Given the description of an element on the screen output the (x, y) to click on. 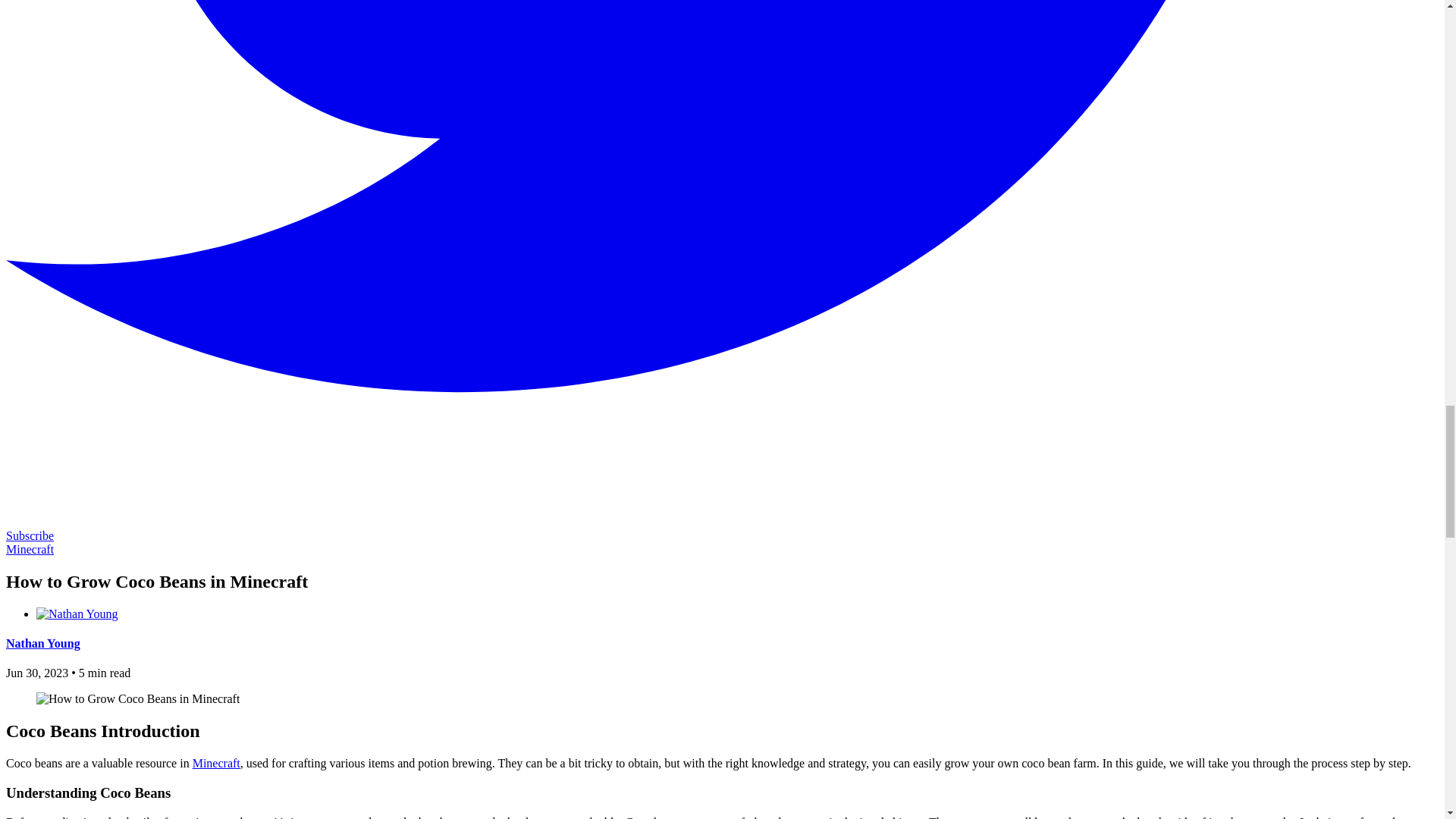
Nathan Young (42, 643)
Minecraft (29, 549)
Subscribe (29, 535)
Minecraft (216, 762)
